Given the description of an element on the screen output the (x, y) to click on. 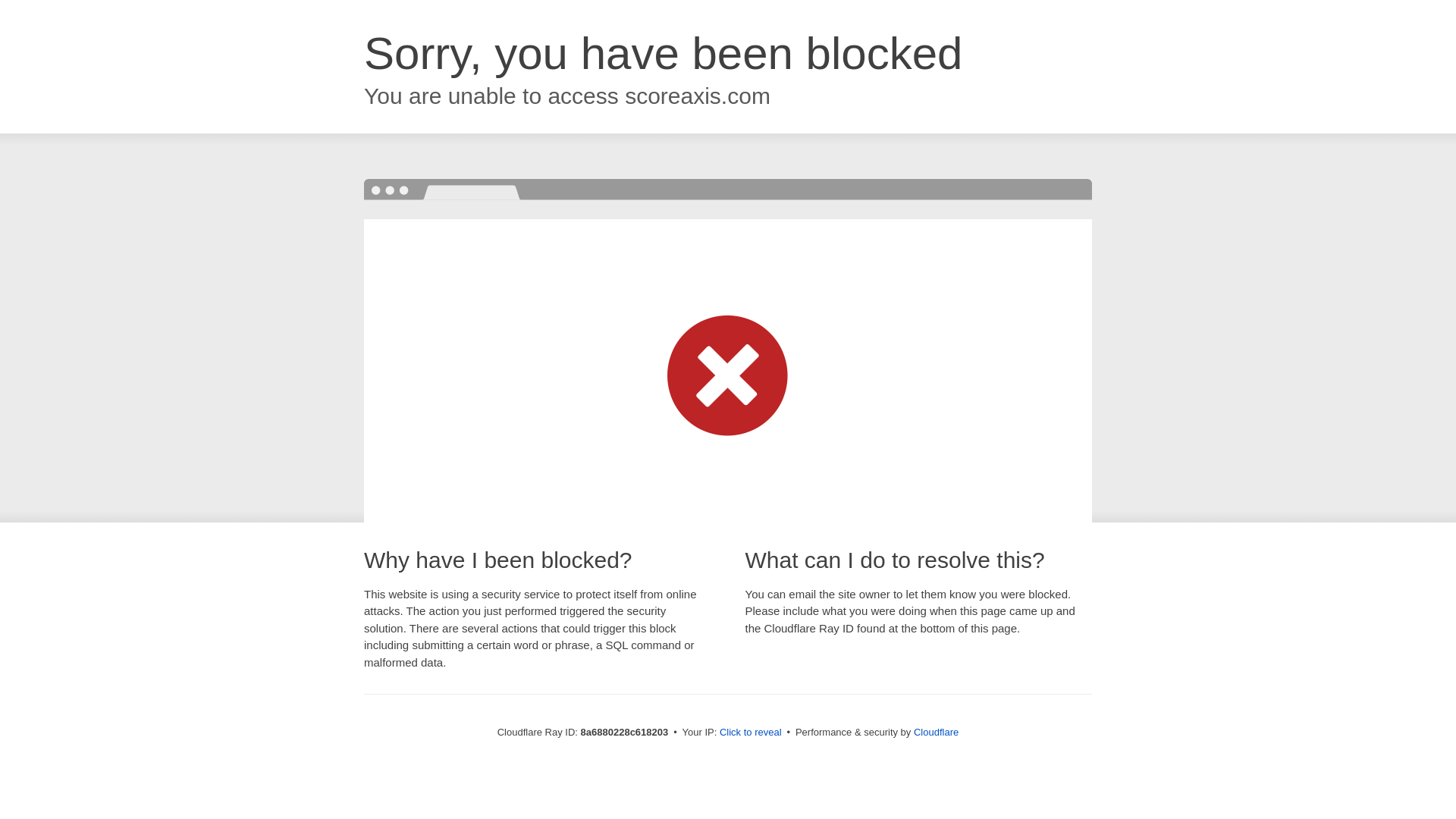
Cloudflare (936, 731)
Click to reveal (750, 732)
